Given the description of an element on the screen output the (x, y) to click on. 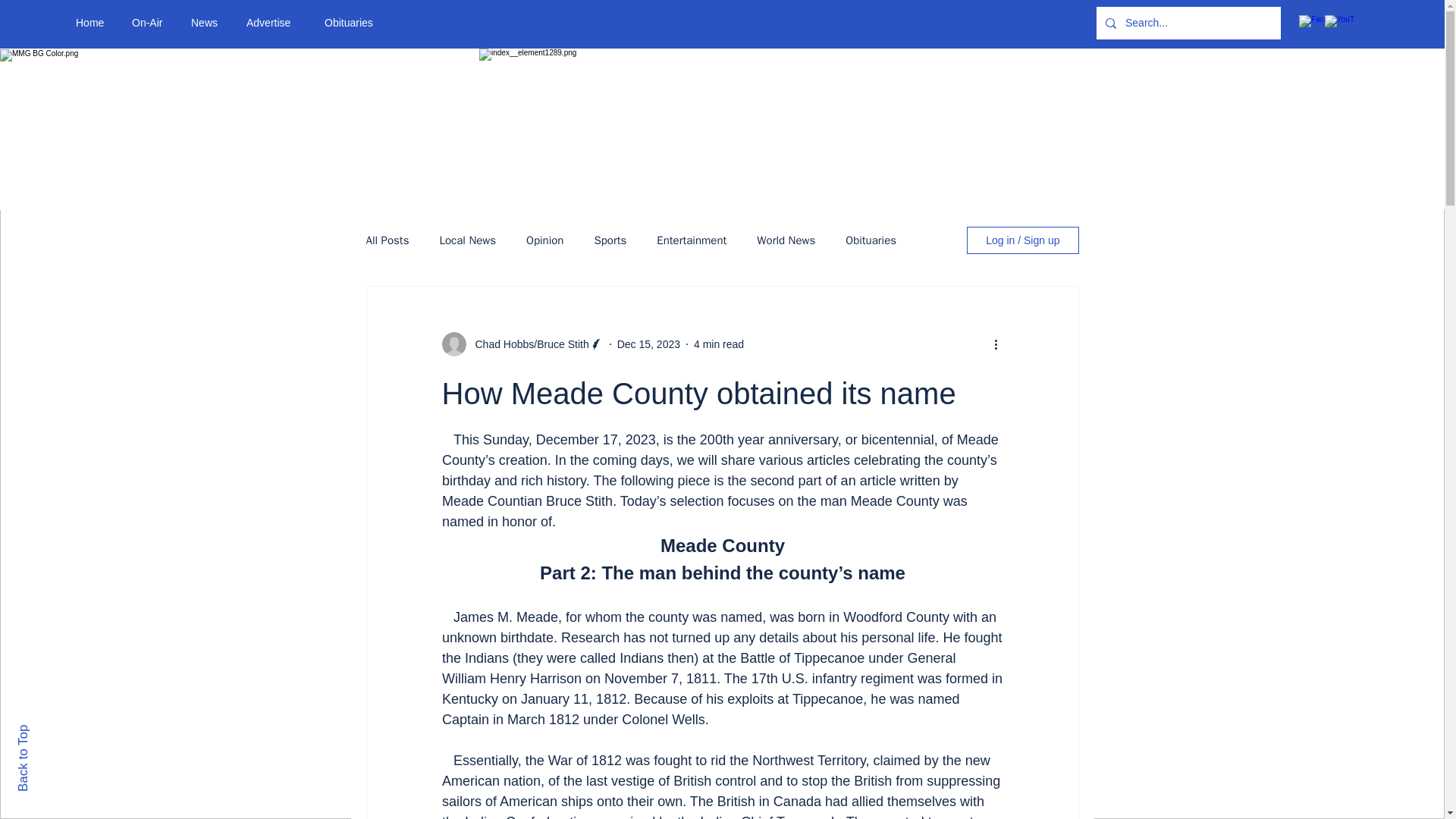
Opinion (544, 240)
Obituaries (354, 23)
Advertise (273, 23)
Sports (610, 240)
On-Air (149, 23)
4 min read (719, 344)
Local News (467, 240)
Home (92, 23)
All Posts (387, 240)
World News (786, 240)
Entertainment (691, 240)
News (206, 23)
Obituaries (870, 240)
Back to Top (49, 730)
Dec 15, 2023 (648, 344)
